Given the description of an element on the screen output the (x, y) to click on. 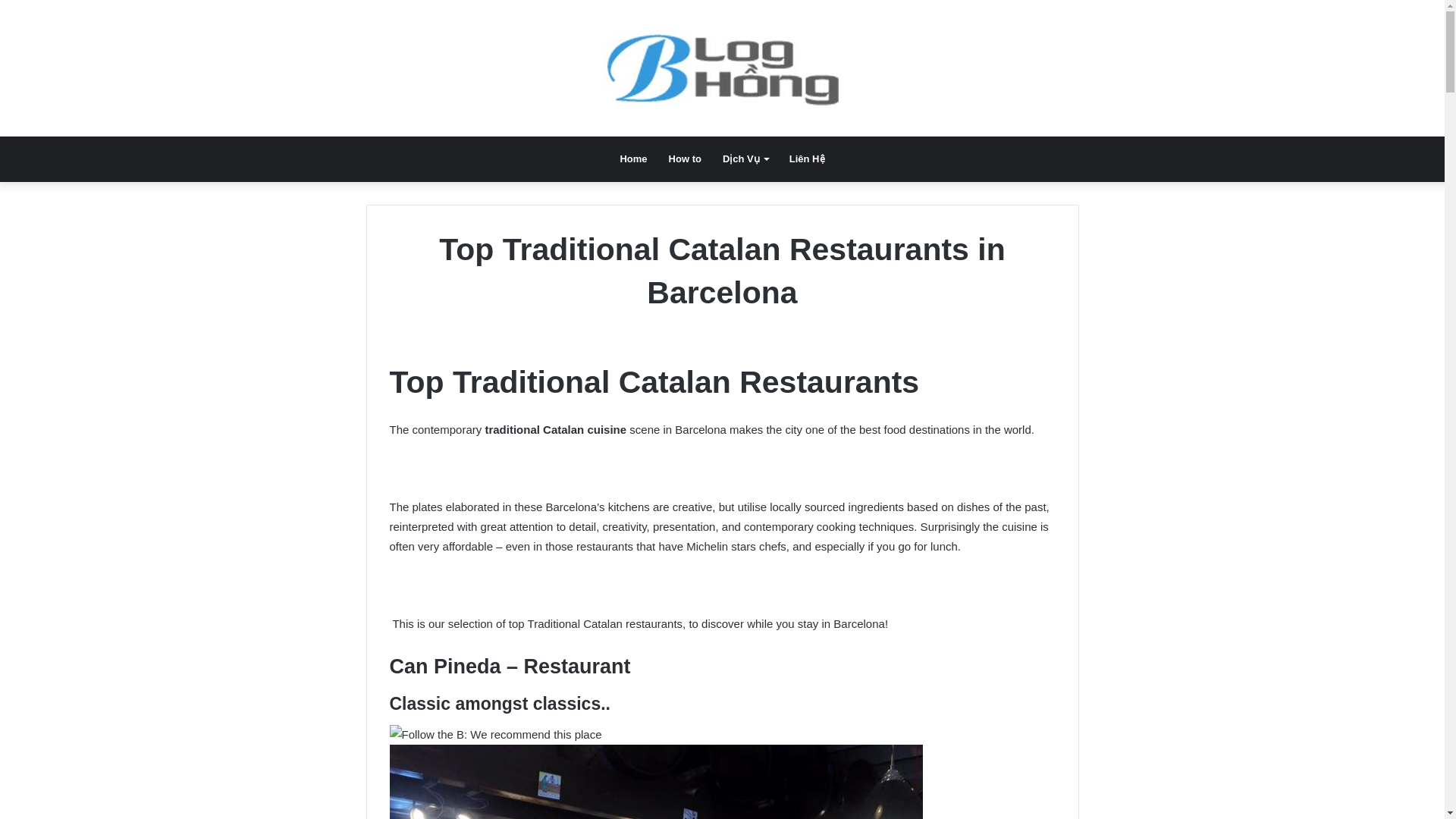
Top Traditional Catalan Restaurants in Barcelona 1 (656, 781)
Follow the B: We recommend this place (496, 734)
Home (633, 158)
How to (684, 158)
